Given the description of an element on the screen output the (x, y) to click on. 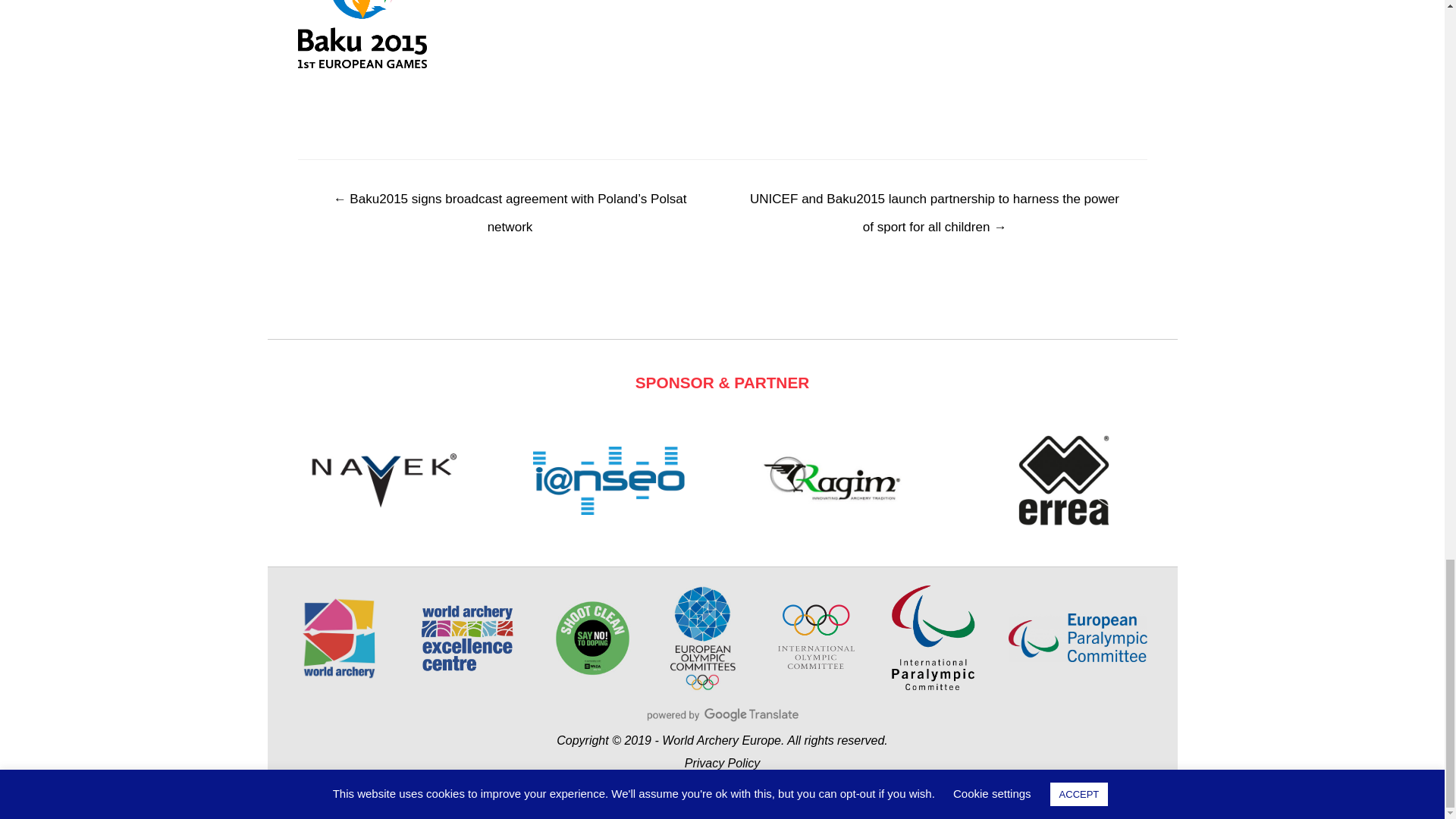
worldarchery (338, 638)
WorldArcheryExcellenceCenter (467, 637)
ianseo (608, 480)
IOC-logo (816, 637)
logoRagim (835, 481)
WADA2 (592, 637)
